Given the description of an element on the screen output the (x, y) to click on. 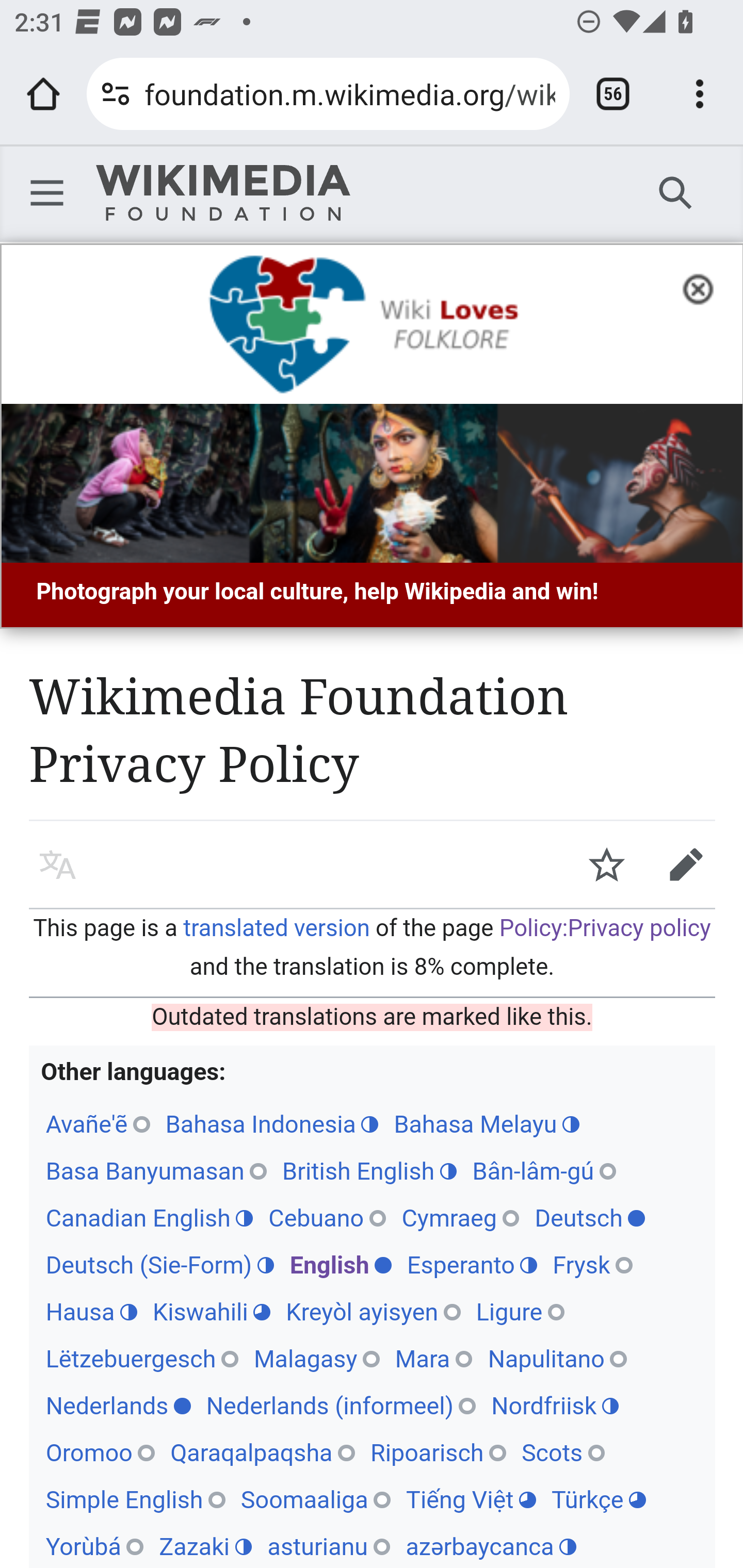
Open the home page (43, 93)
Connection is secure (115, 93)
Switch or close tabs (612, 93)
Customize and control Google Chrome (699, 93)
Search (676, 192)
Wikimedia Foundation Governance Wiki (222, 192)
Hide (703, 286)
Language (57, 864)
Watch (606, 864)
Translate (686, 864)
translated version (276, 928)
Policy:Privacy policy (604, 928)
Avañe'ẽ (97, 1125)
Bahasa Indonesia (271, 1125)
Bahasa Melayu (486, 1125)
Basa Banyumasan (155, 1172)
British English (369, 1172)
Bân-lâm-gú (544, 1172)
Canadian English (149, 1219)
Cebuano (327, 1219)
Cymraeg (460, 1219)
Deutsch (590, 1219)
Deutsch (Sie-Form) (159, 1266)
English (340, 1266)
Esperanto (471, 1266)
Frysk (592, 1266)
Hausa (90, 1313)
Kiswahili (211, 1313)
Kreyòl ayisyen (373, 1313)
Ligure (519, 1313)
Lëtzebuergesch (141, 1360)
Malagasy (316, 1360)
Mara (433, 1360)
Napulitano (557, 1360)
Nederlands (117, 1407)
Nederlands (informeel) (341, 1407)
Nordfriisk (554, 1407)
Oromoo (100, 1453)
Qaraqalpaqsha (262, 1453)
Ripoarisch (437, 1453)
Scots (563, 1453)
Simple English (134, 1500)
Soomaaliga (315, 1500)
Tiếng Việt (470, 1500)
Türkçe (598, 1500)
Yorùbá (94, 1547)
Zazaki (205, 1547)
asturianu (329, 1547)
azərbaycanca (491, 1547)
